Given the description of an element on the screen output the (x, y) to click on. 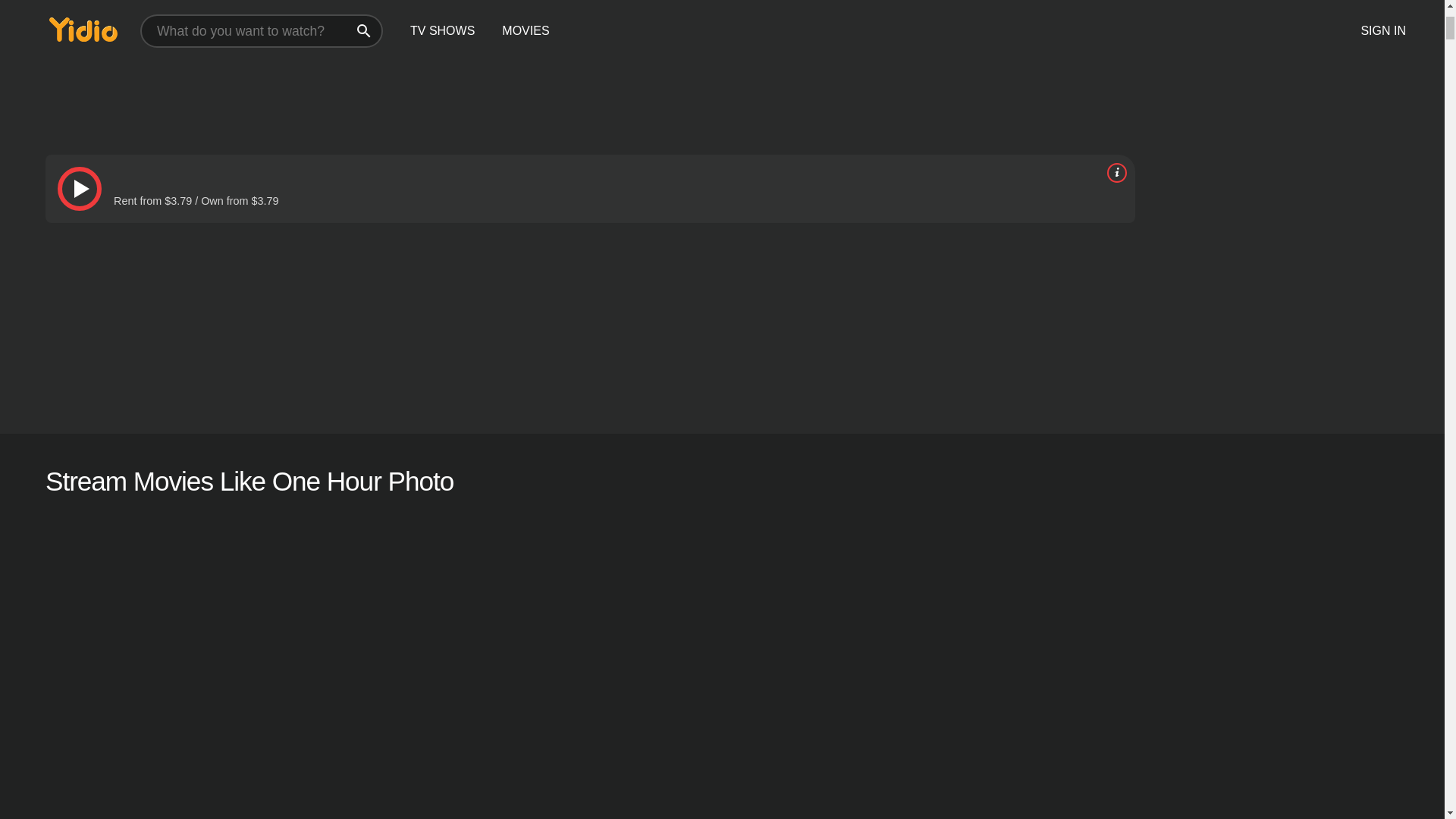
Advertisement (500, 63)
